Given the description of an element on the screen output the (x, y) to click on. 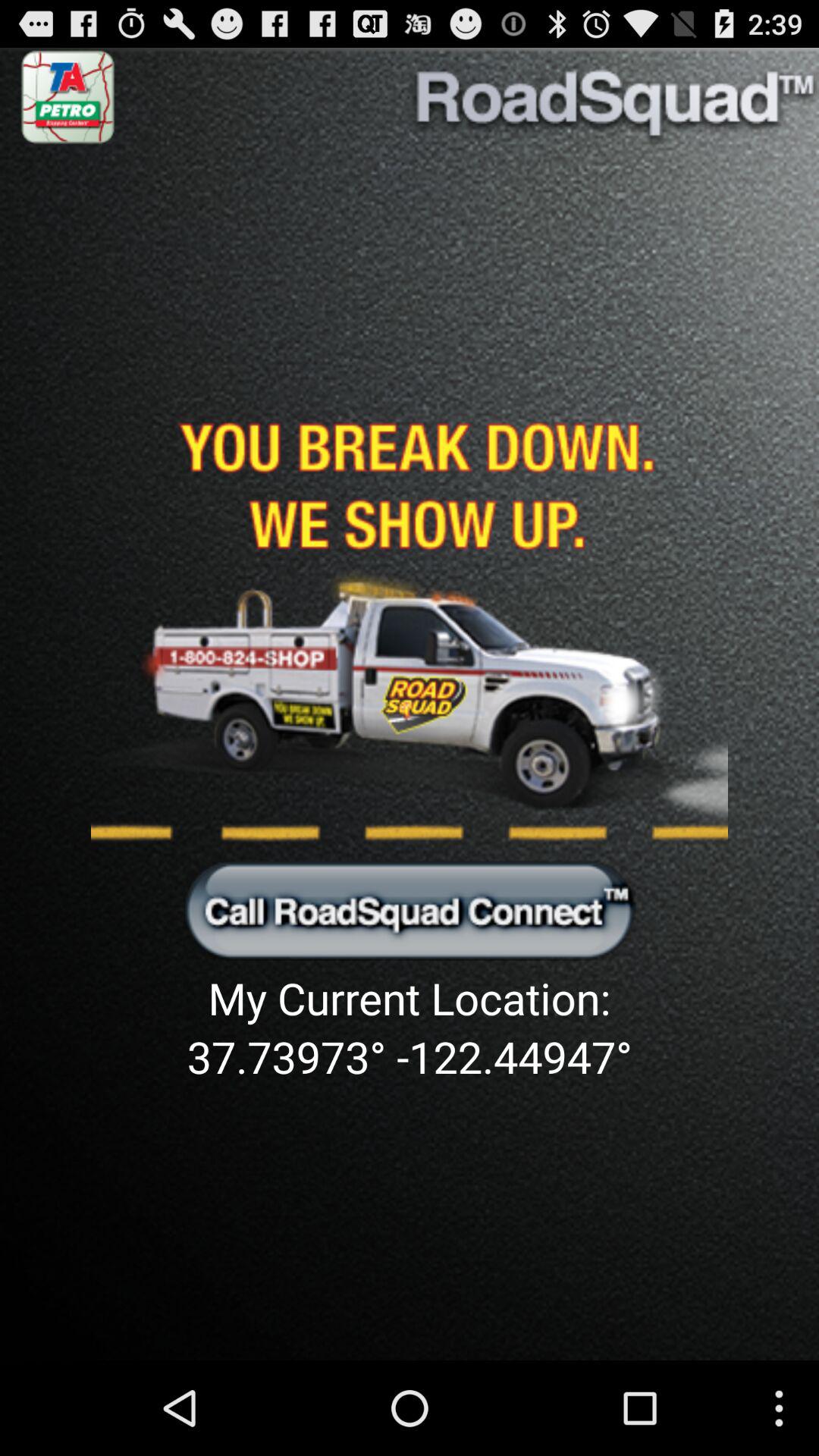
opens the call screen (409, 909)
